Given the description of an element on the screen output the (x, y) to click on. 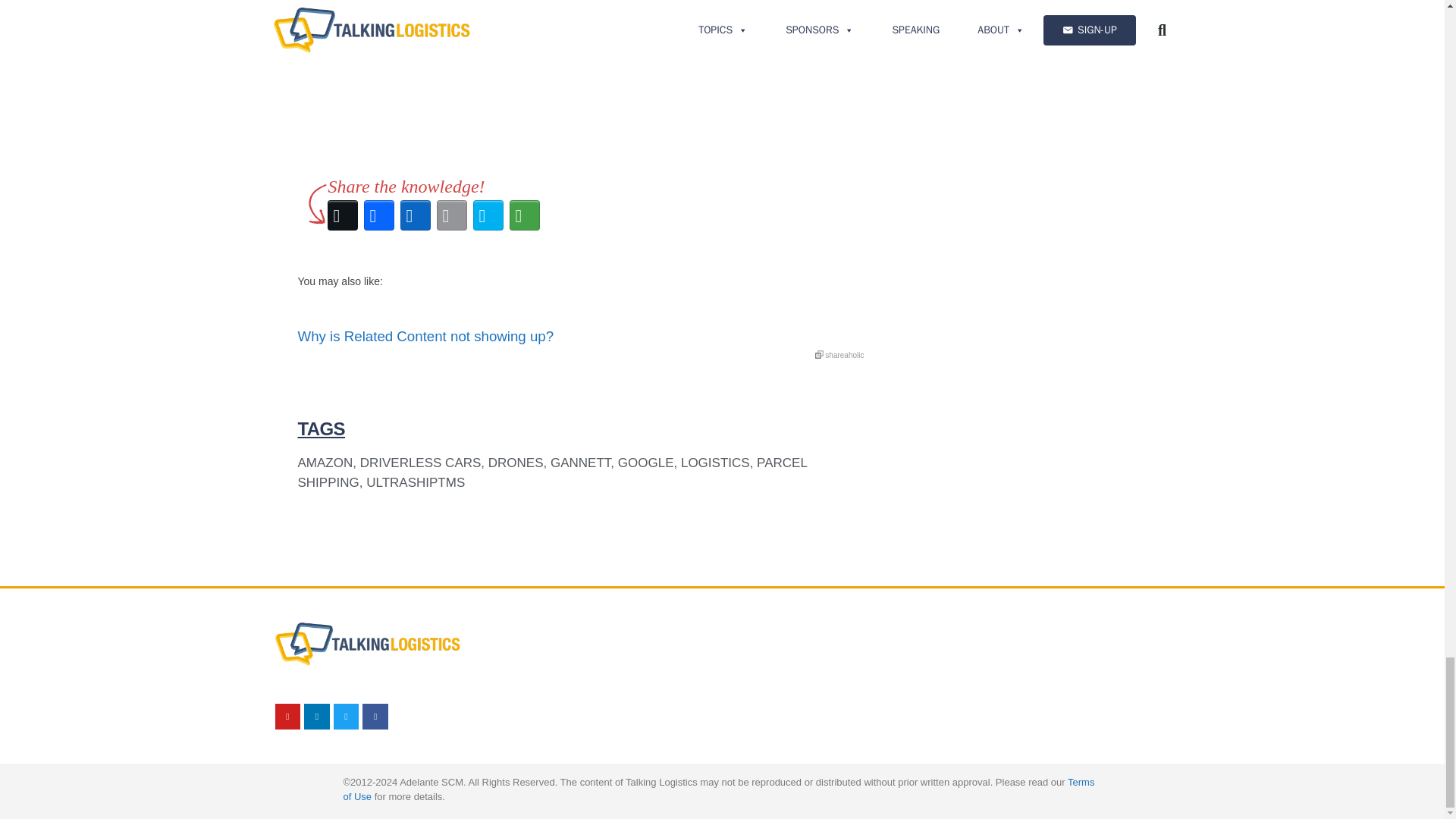
More Options (524, 215)
Facebook (379, 215)
Website Tools by Shareaholic (839, 355)
Email This (451, 215)
LinkedIn (415, 215)
PrintFriendly (488, 215)
Why is Related Content not showing up? (581, 332)
